Given the description of an element on the screen output the (x, y) to click on. 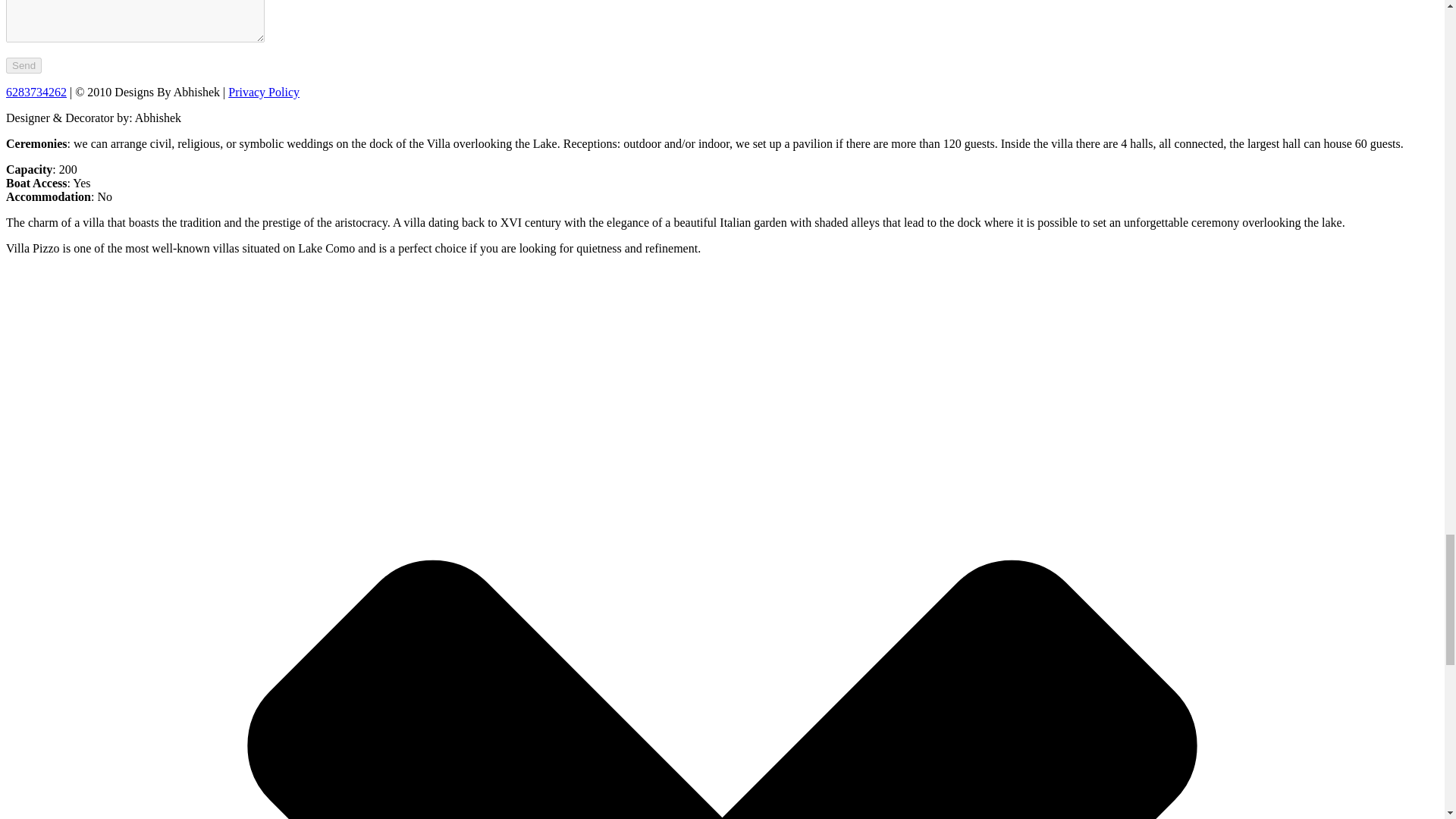
6283734262 (35, 91)
Send (23, 65)
Send (23, 65)
Privacy Policy (263, 91)
Privacy Policy (263, 91)
